Given the description of an element on the screen output the (x, y) to click on. 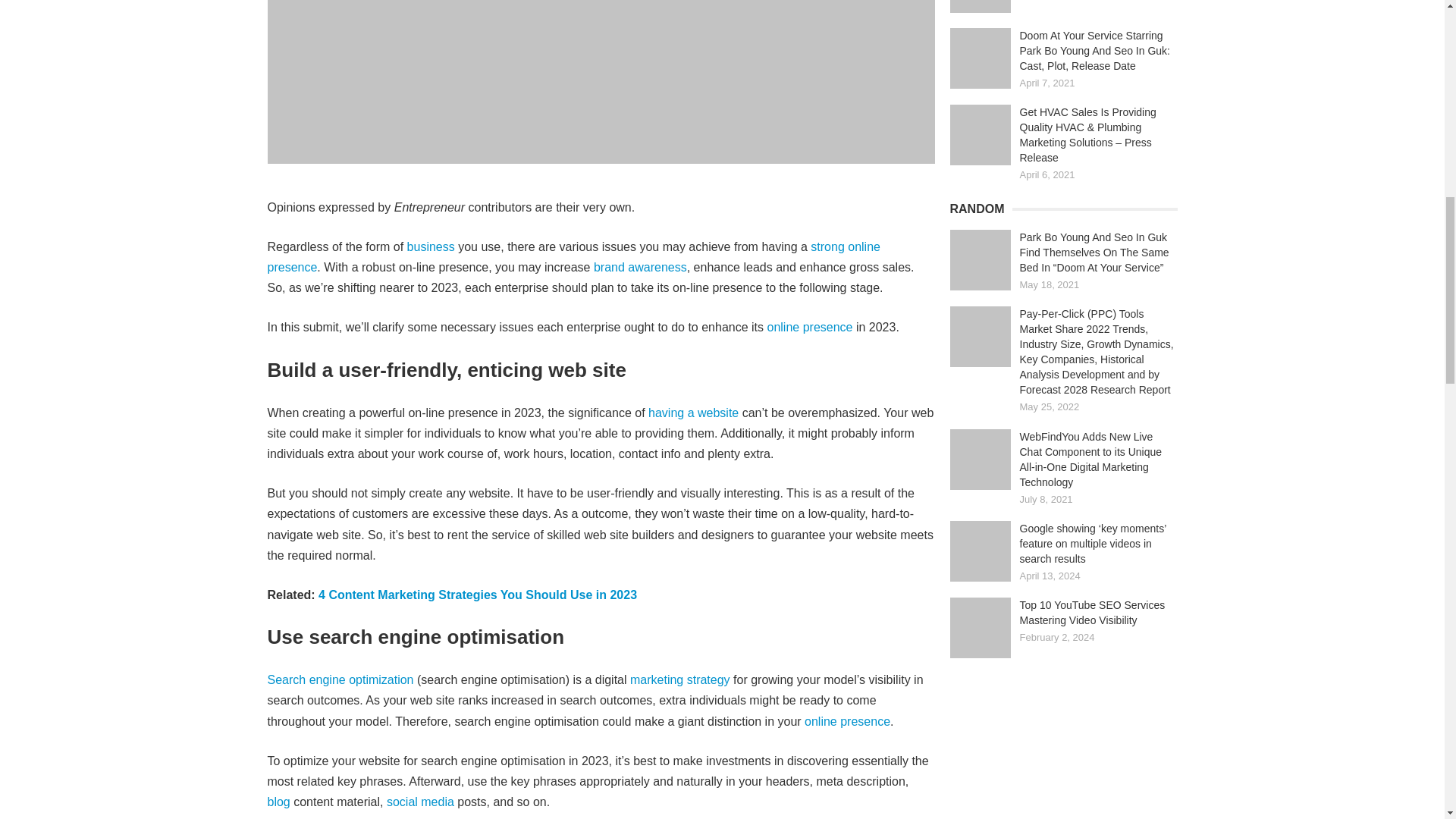
marketing strategy (680, 679)
Best Social Media Marketing Tips to Implement Now (979, 6)
online presence (847, 721)
business (430, 246)
4 Content Marketing Strategies You Should Use in 2023 (477, 594)
online presence (810, 327)
brand awareness (640, 267)
having a website (692, 412)
Search engine optimization (339, 679)
strong online presence (572, 256)
